Given the description of an element on the screen output the (x, y) to click on. 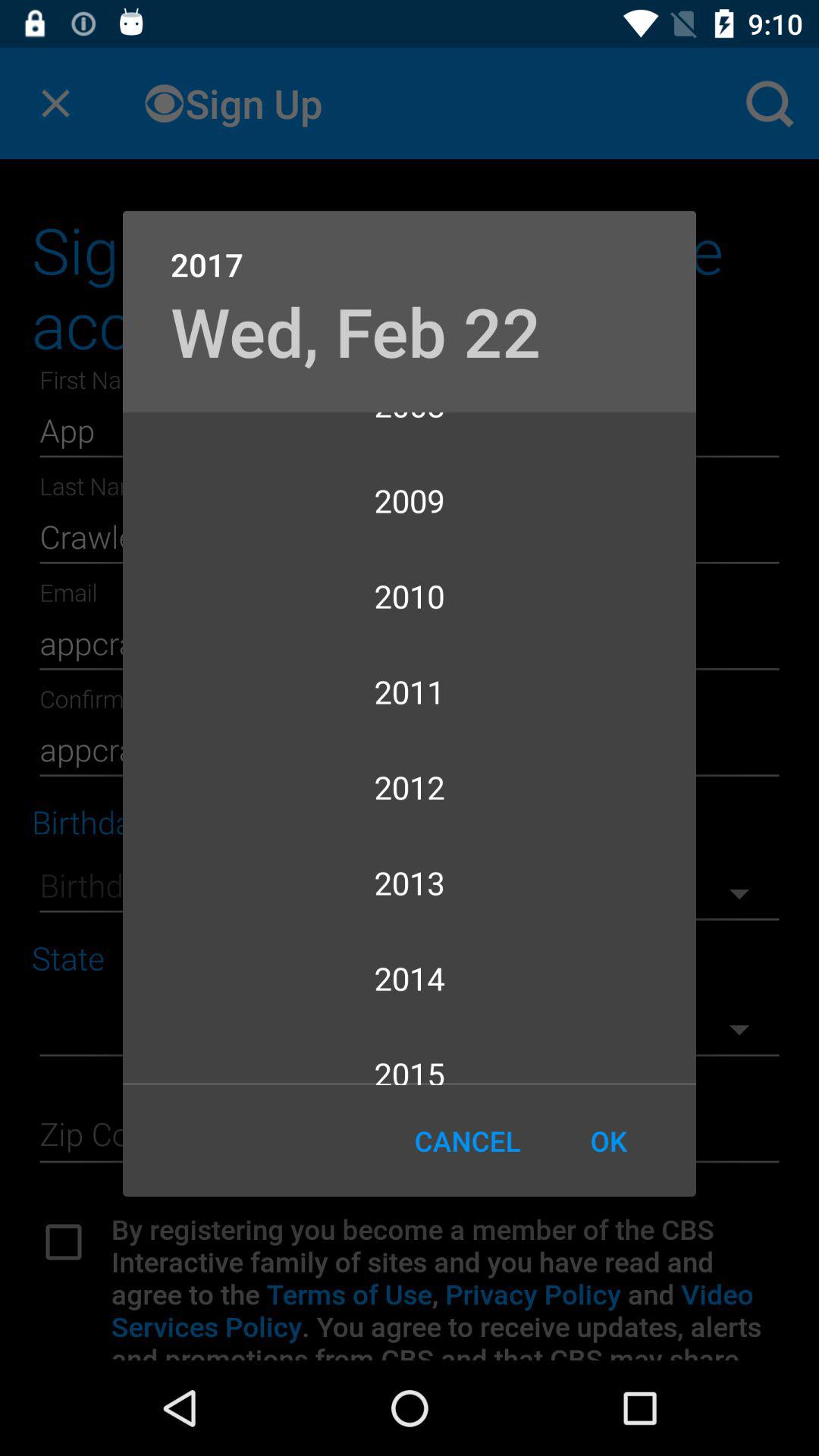
jump to ok icon (608, 1140)
